Given the description of an element on the screen output the (x, y) to click on. 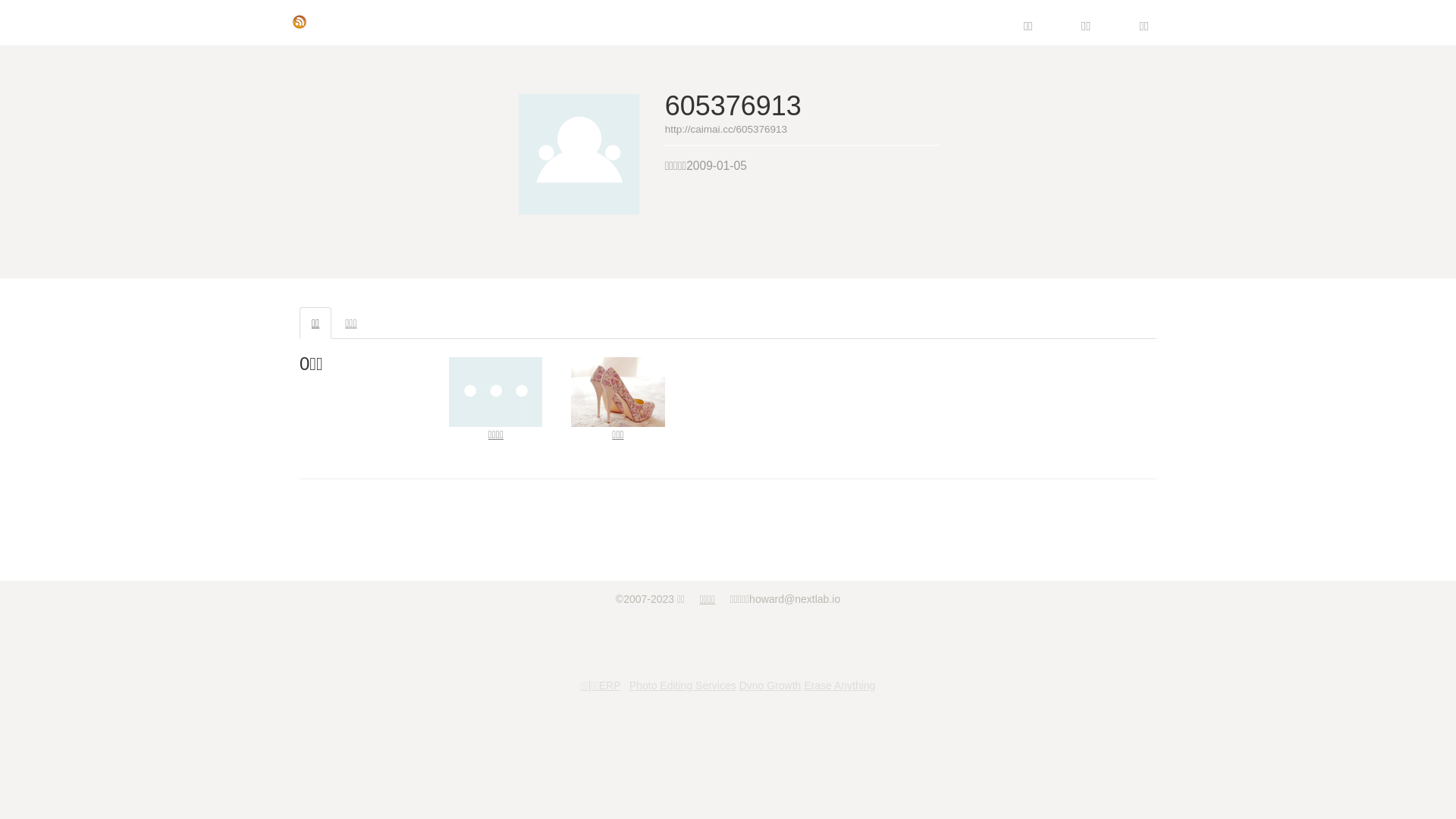
Dyno Growth Element type: text (770, 685)
Erase Anything Element type: text (839, 685)
Photo Editing Services Element type: text (682, 685)
